Given the description of an element on the screen output the (x, y) to click on. 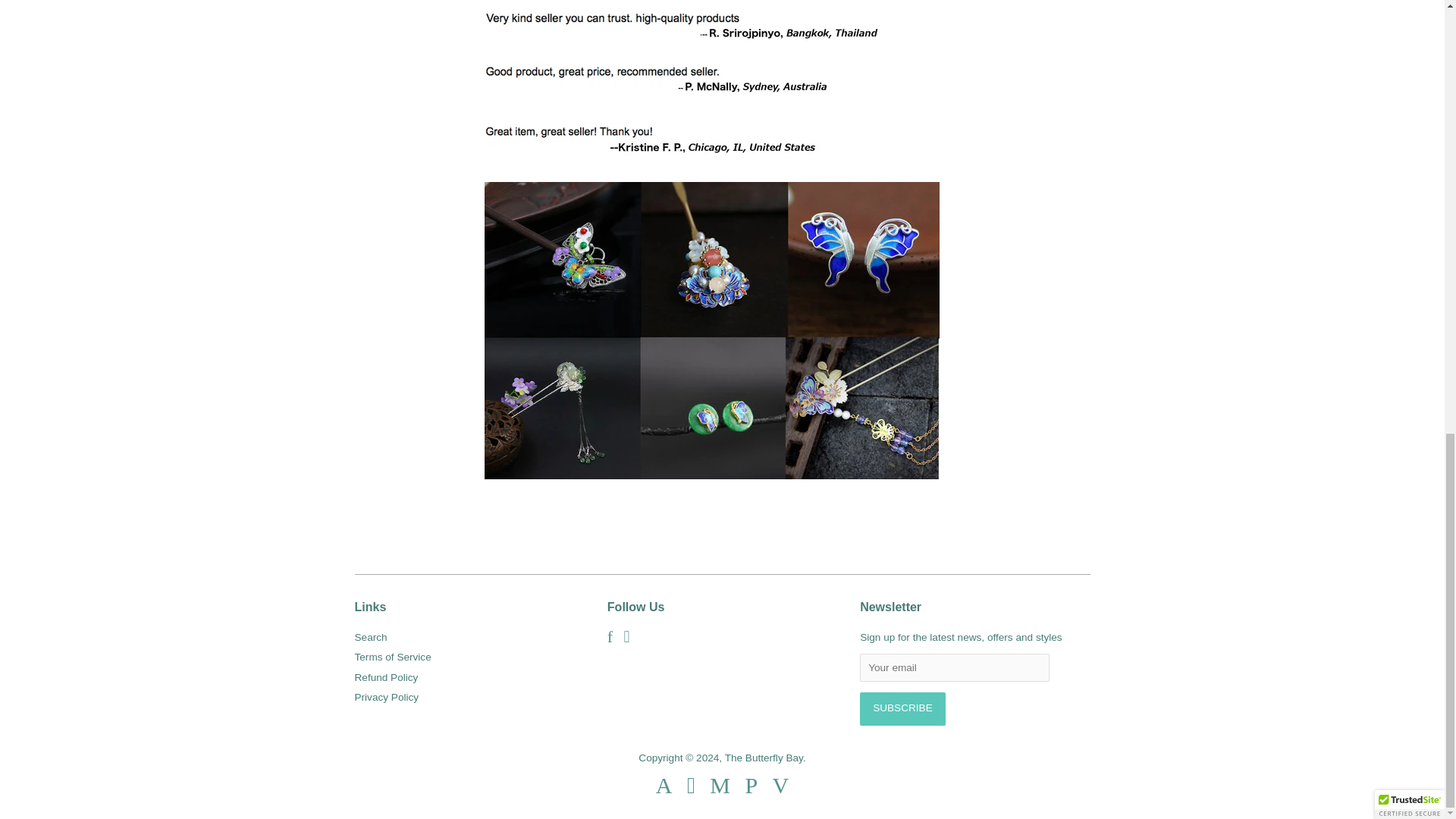
Subscribe (902, 708)
